Given the description of an element on the screen output the (x, y) to click on. 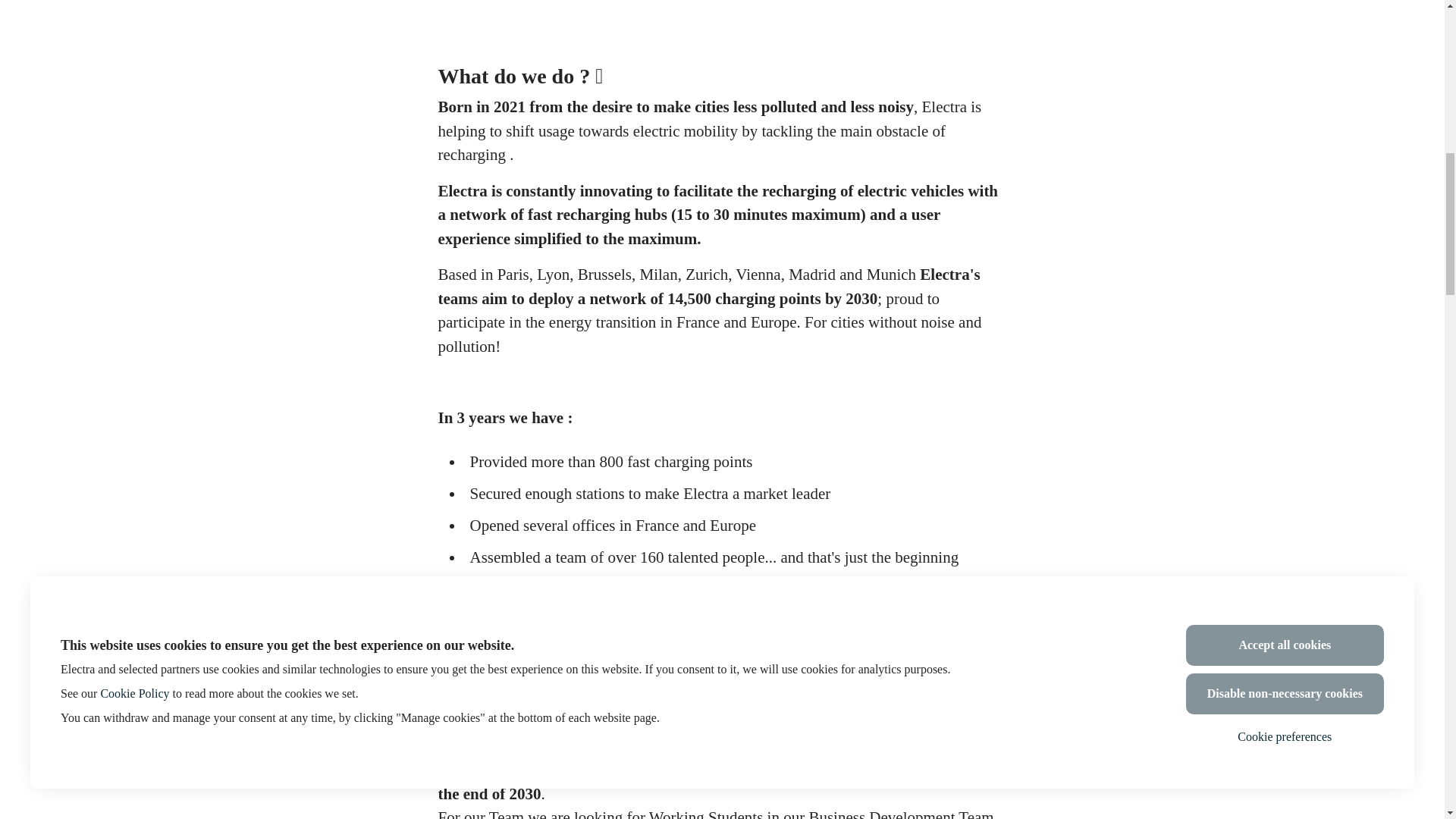
Apply for this job (721, 37)
